Given the description of an element on the screen output the (x, y) to click on. 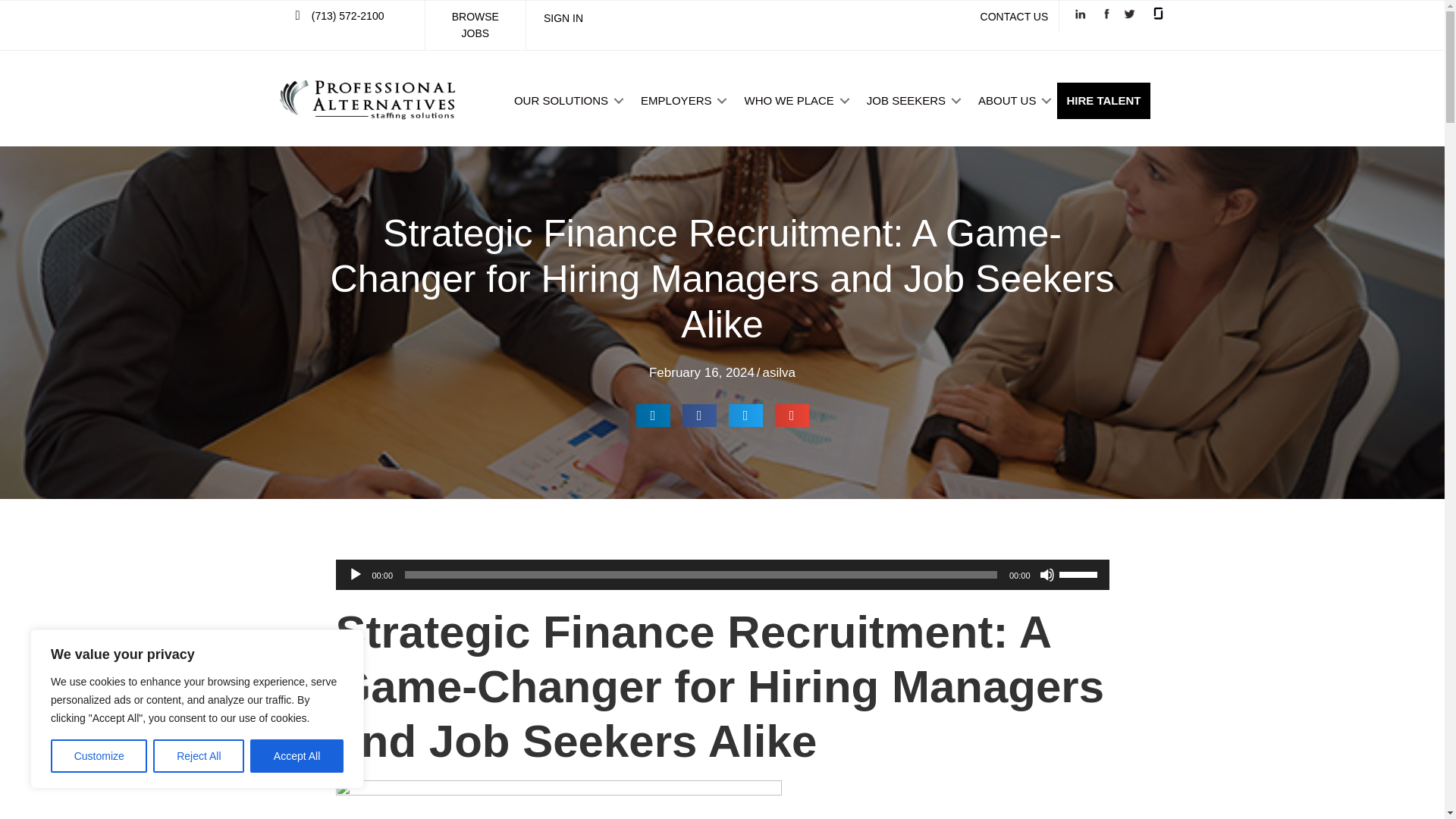
WHO WE PLACE (793, 100)
SIGN IN (563, 18)
Linked-Blk (1080, 13)
Customize (98, 756)
EMPLOYERS (681, 100)
BlackLAtoProAlt2-1 (368, 101)
Accept All (296, 756)
Reject All (198, 756)
Mute (1046, 574)
Play (354, 574)
